Given the description of an element on the screen output the (x, y) to click on. 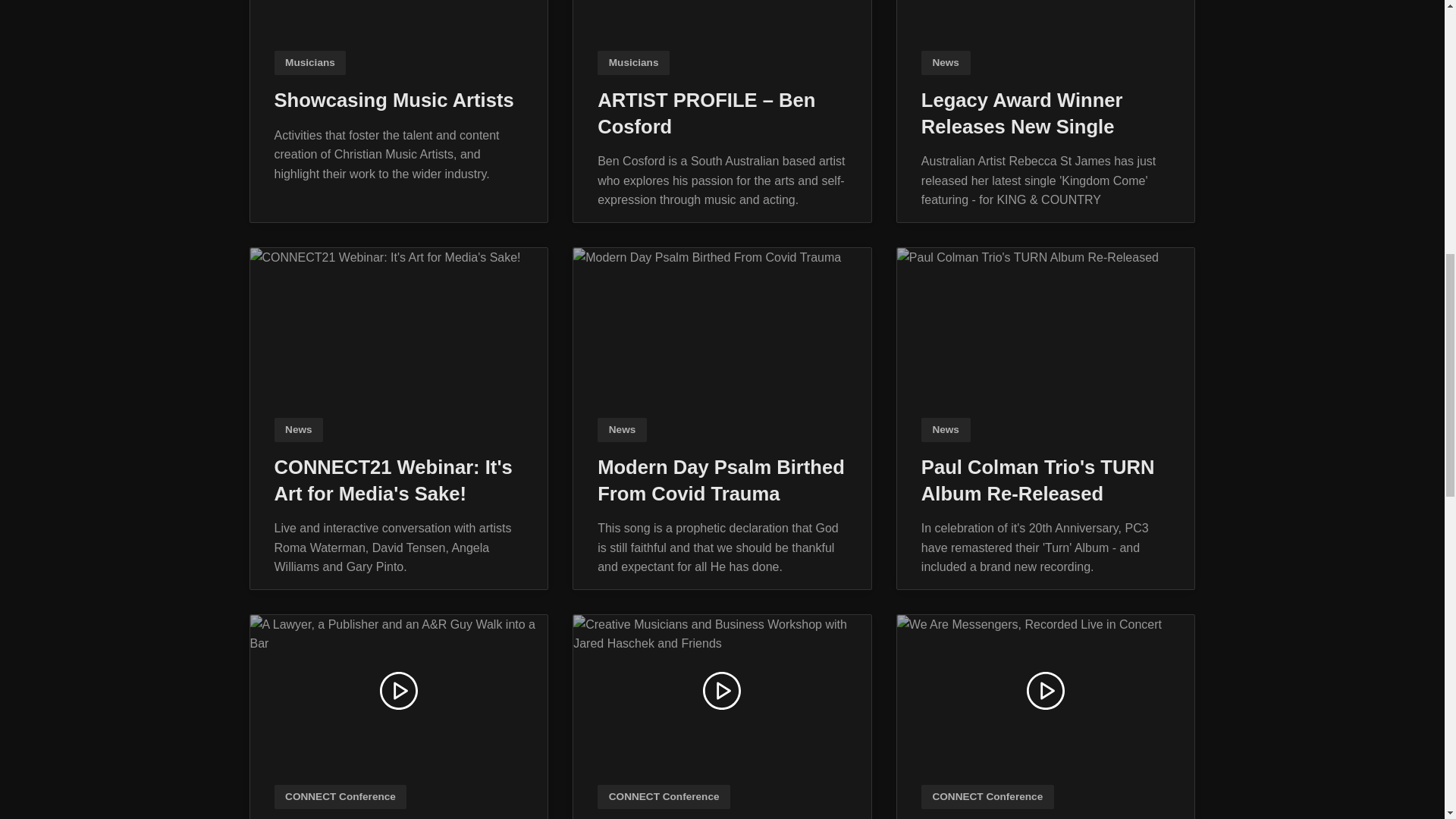
Paul Colman Trio's TURN Album Re-Released (1045, 323)
Modern Day Psalm Birthed From Covid Trauma (721, 323)
Legacy Award Winner Releases New Single (1045, 16)
Showcasing Music Artists (399, 16)
CONNECT21 Webinar: It's Art for Media's Sake! (399, 323)
